Given the description of an element on the screen output the (x, y) to click on. 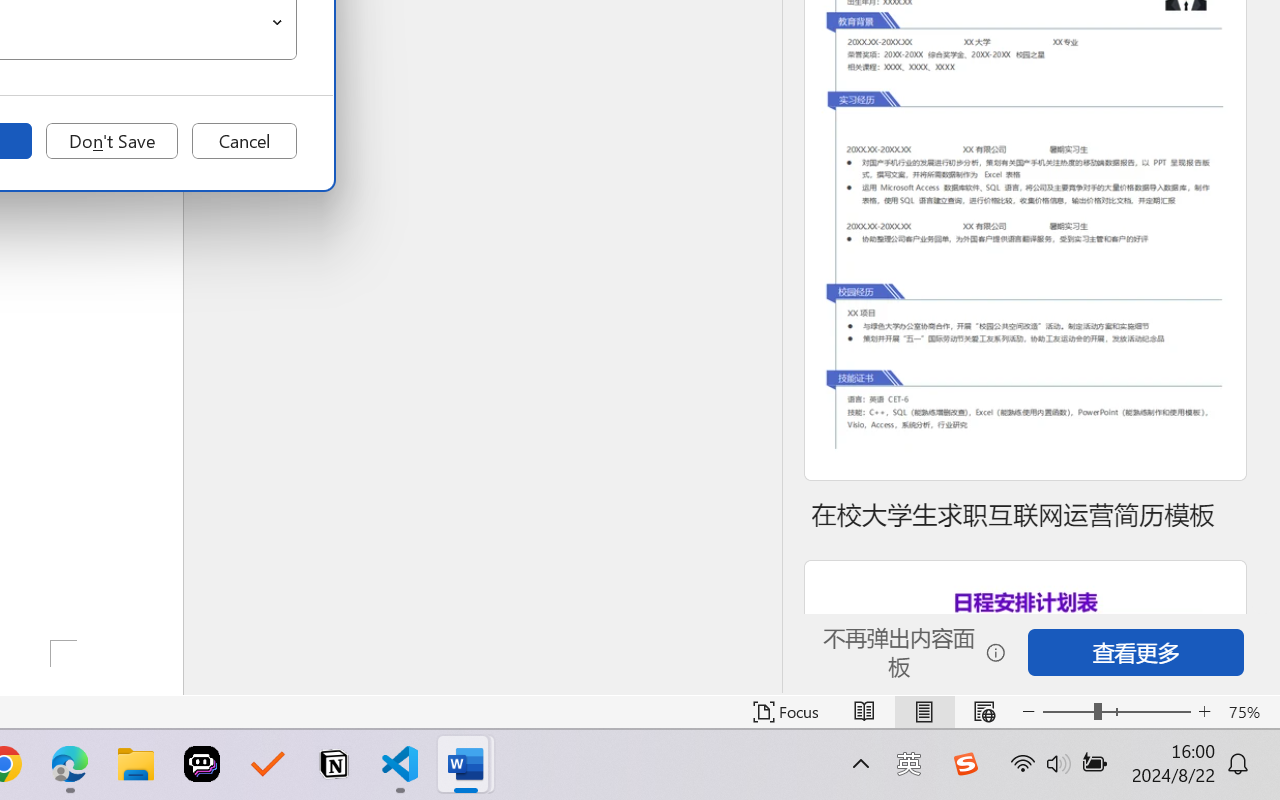
Don't Save (111, 141)
Poe (201, 764)
Print Layout (924, 712)
Read Mode (864, 712)
Class: Image (965, 764)
Cancel (244, 141)
